Given the description of an element on the screen output the (x, y) to click on. 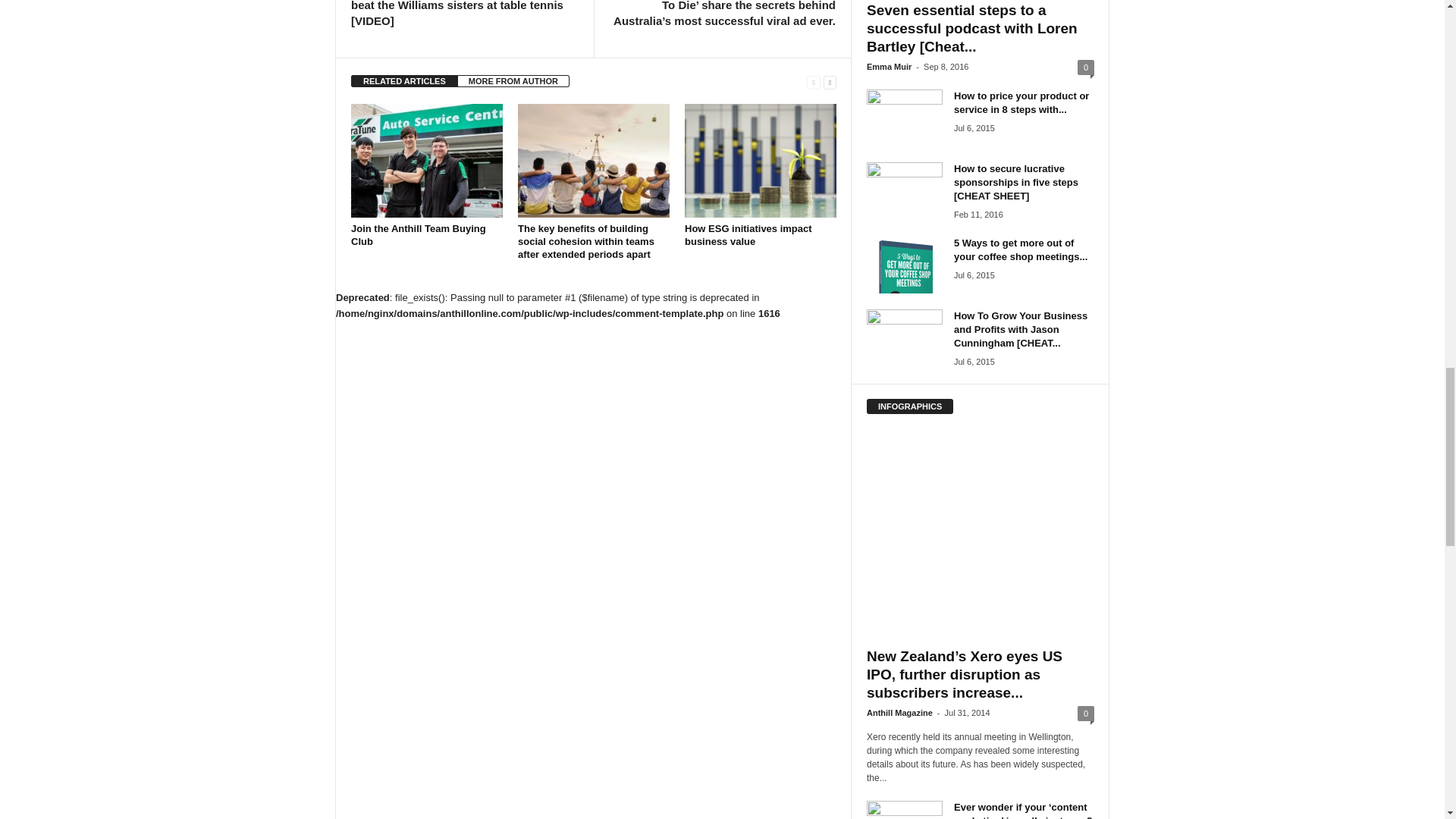
Join the Anthill Team Buying Club (426, 160)
